Given the description of an element on the screen output the (x, y) to click on. 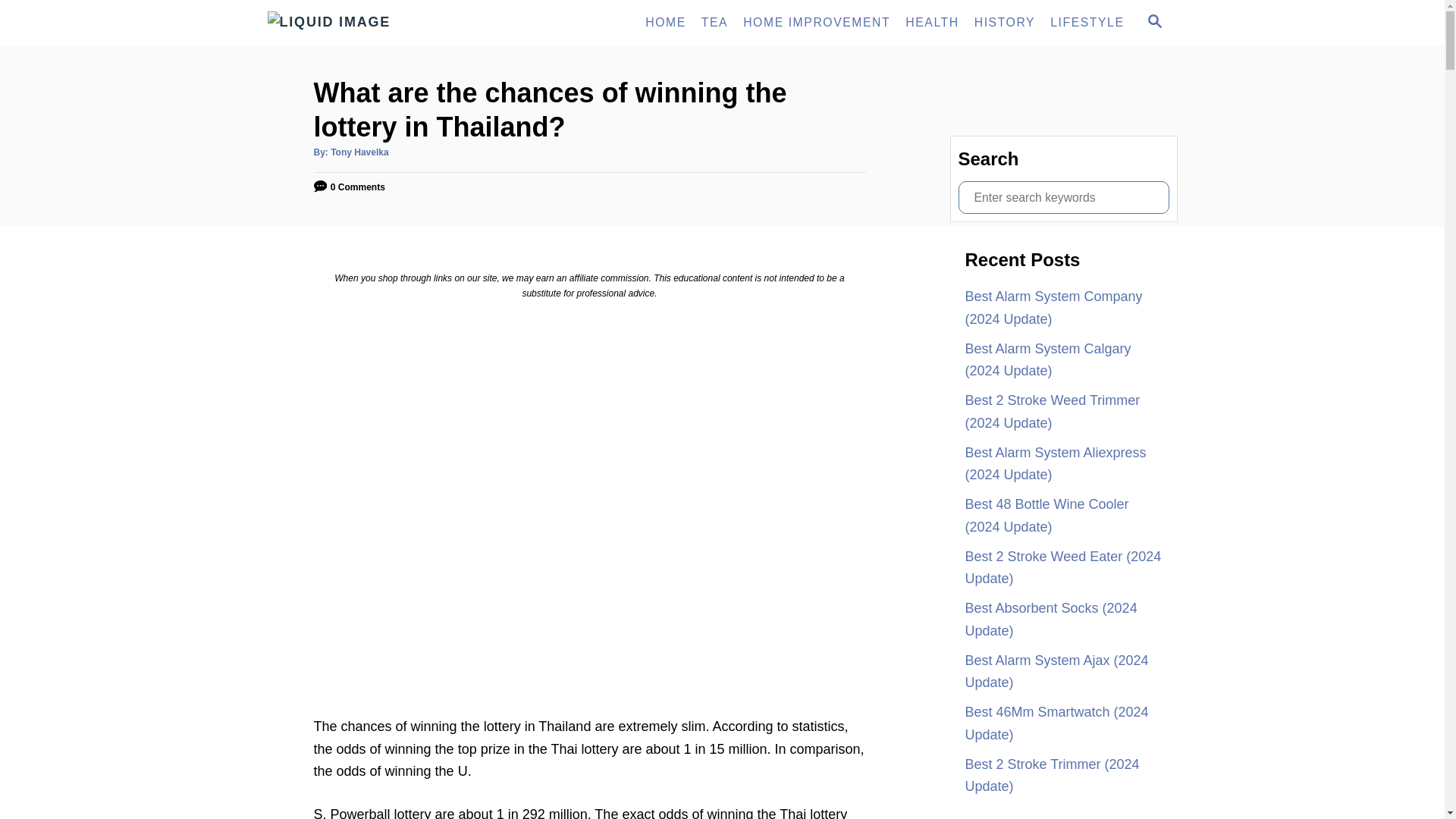
MAGNIFYING GLASS (1153, 21)
Liquid Image (403, 22)
HISTORY (1004, 22)
TEA (714, 22)
Tony Havelka (359, 152)
LIFESTYLE (1153, 22)
HEALTH (1086, 22)
HOME IMPROVEMENT (932, 22)
